Given the description of an element on the screen output the (x, y) to click on. 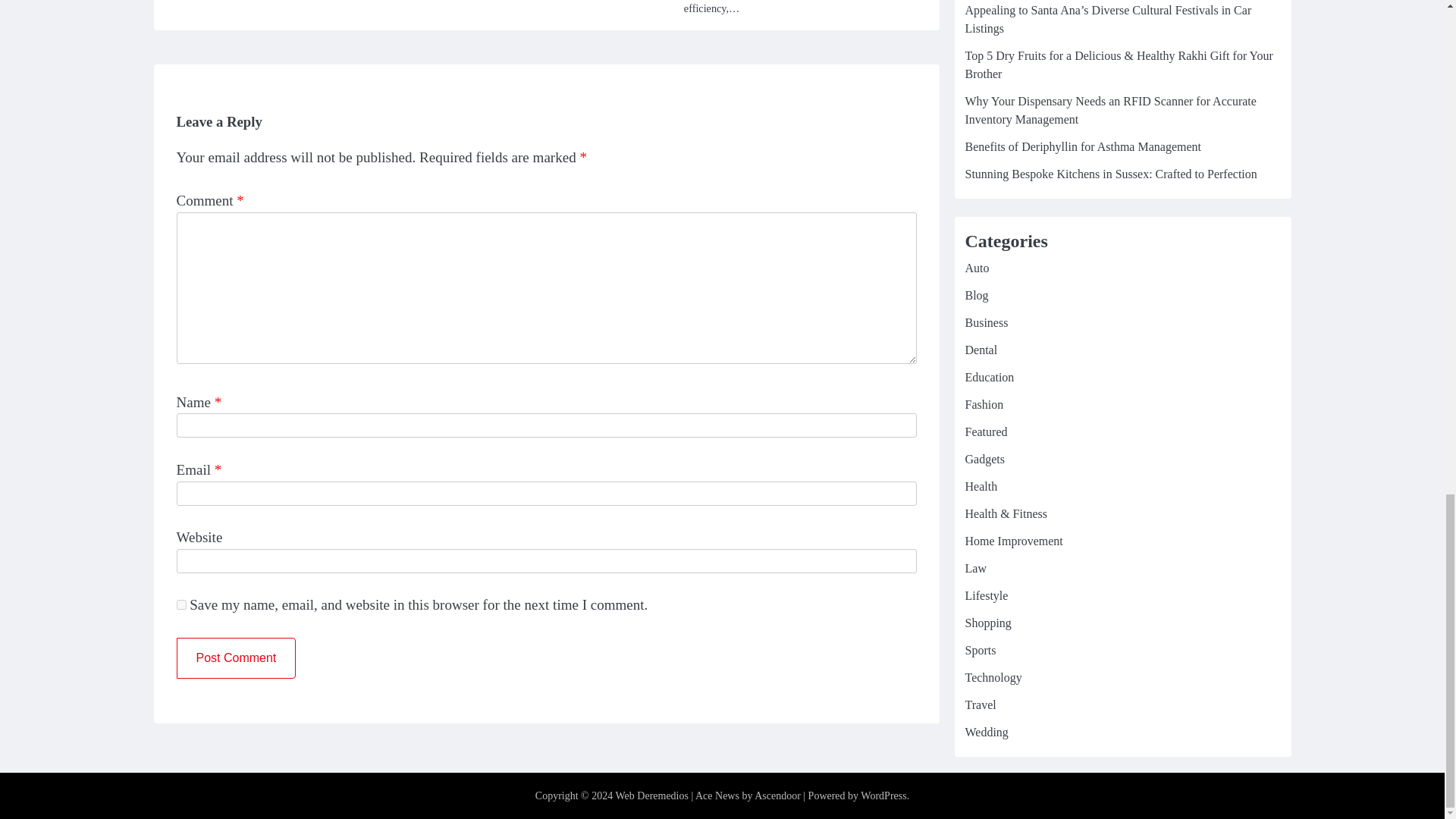
Post Comment (235, 658)
Post Comment (235, 658)
yes (181, 604)
